Given the description of an element on the screen output the (x, y) to click on. 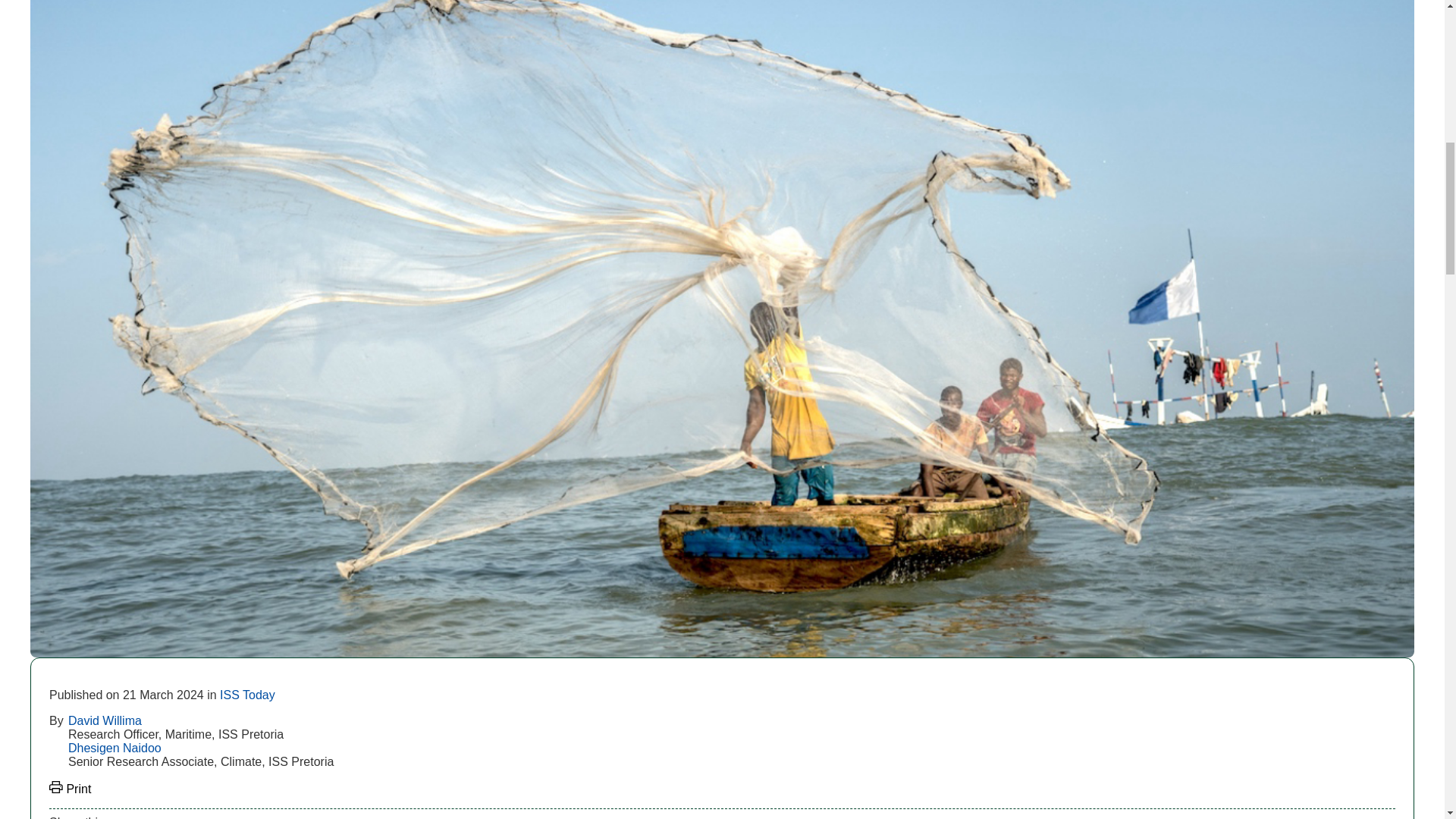
Dhesigen Naidoo (114, 748)
ISS Today (247, 694)
David Willima (104, 720)
